Given the description of an element on the screen output the (x, y) to click on. 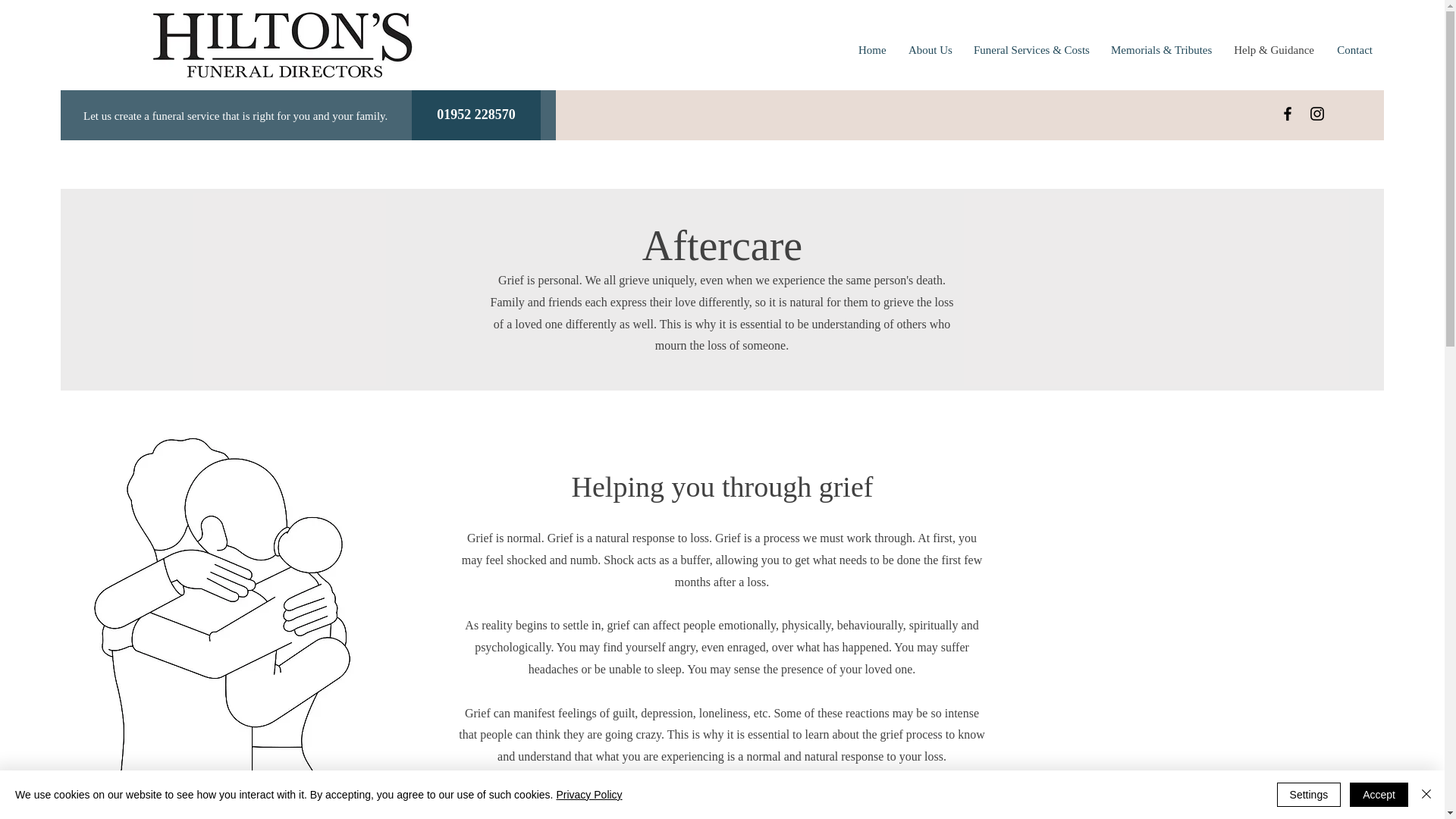
01952 228570 (476, 115)
Privacy Policy (588, 794)
Accept (1378, 794)
Home (871, 49)
About Us (929, 49)
Contact (1354, 49)
